Given the description of an element on the screen output the (x, y) to click on. 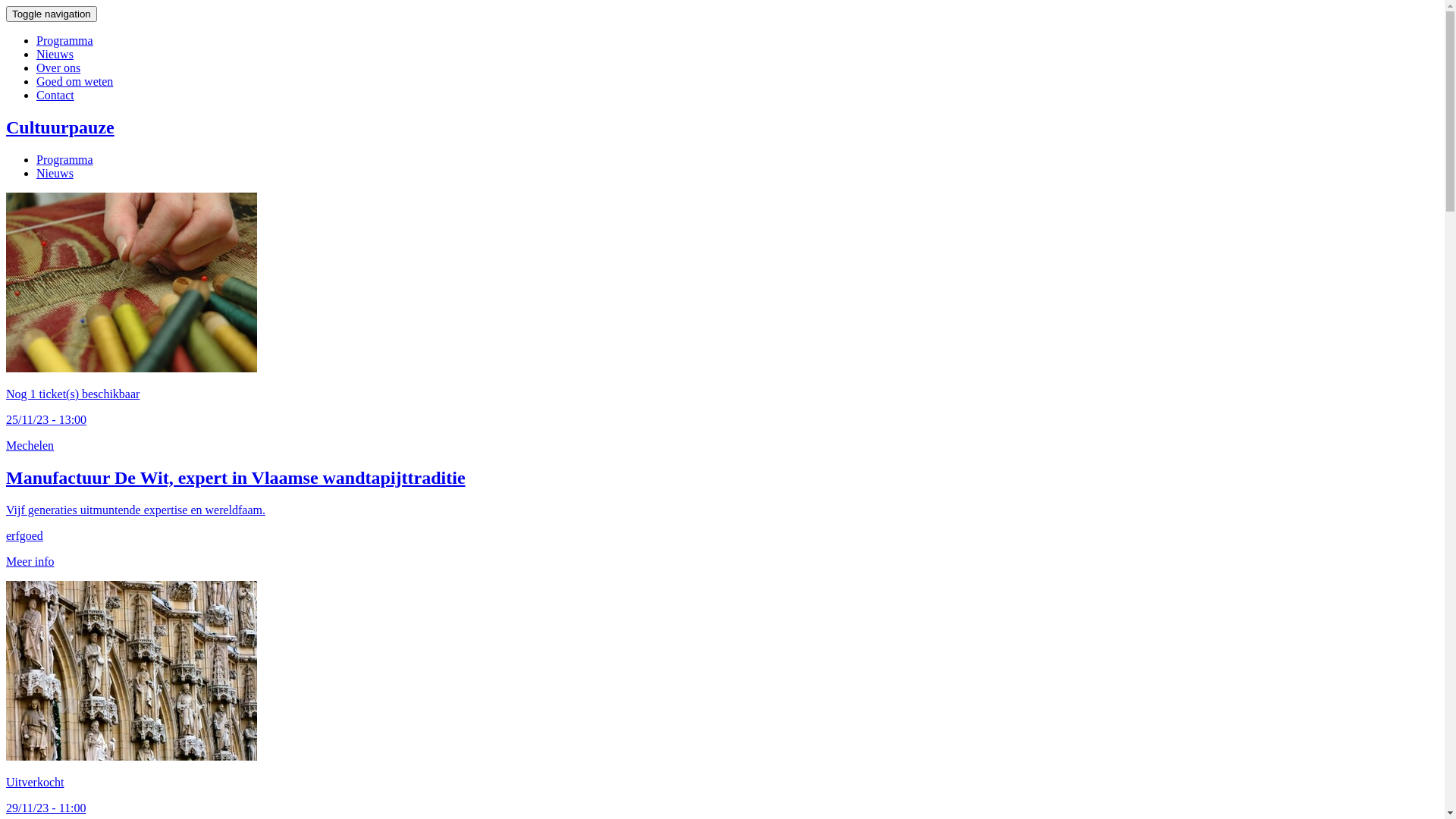
Cultuurpauze Element type: text (722, 127)
Programma Element type: text (64, 40)
Contact Element type: text (55, 94)
Over ons Element type: text (58, 67)
Nieuws Element type: text (54, 53)
Programma Element type: text (64, 159)
Nieuws Element type: text (54, 172)
Goed om weten Element type: text (74, 81)
Toggle navigation Element type: text (51, 13)
